Given the description of an element on the screen output the (x, y) to click on. 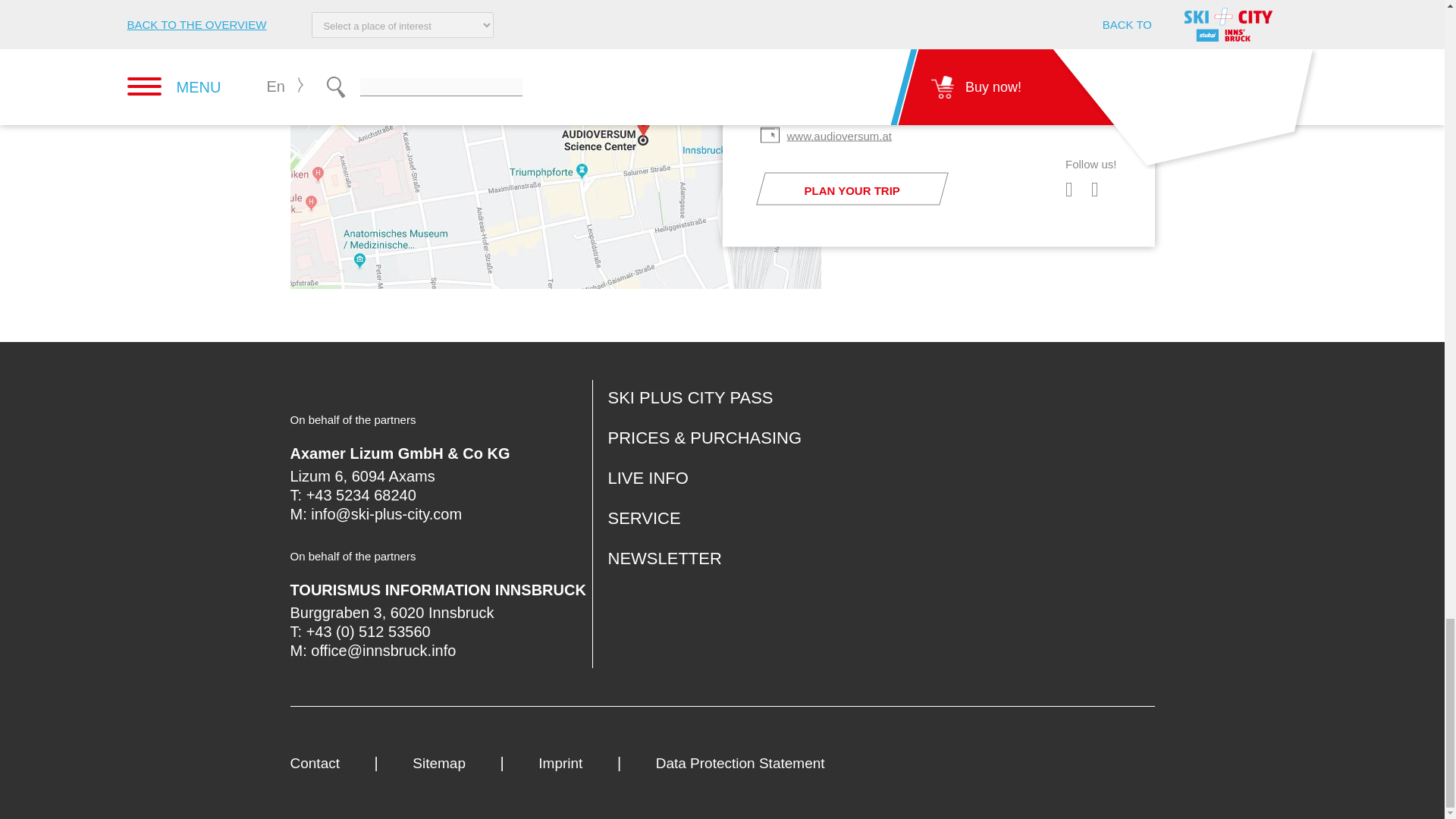
www.audioversum.at (834, 135)
LIVE INFO (648, 477)
Tel. 0043 5 7788 99 (832, 85)
SKI plus CITY Pass (690, 397)
PLAN YOUR TRIP (848, 187)
SERVICE (644, 517)
Tel. 0043 5 7788 99 (832, 85)
SKI PLUS CITY PASS (690, 397)
NEWSLETTER (665, 558)
Contact (329, 763)
